Given the description of an element on the screen output the (x, y) to click on. 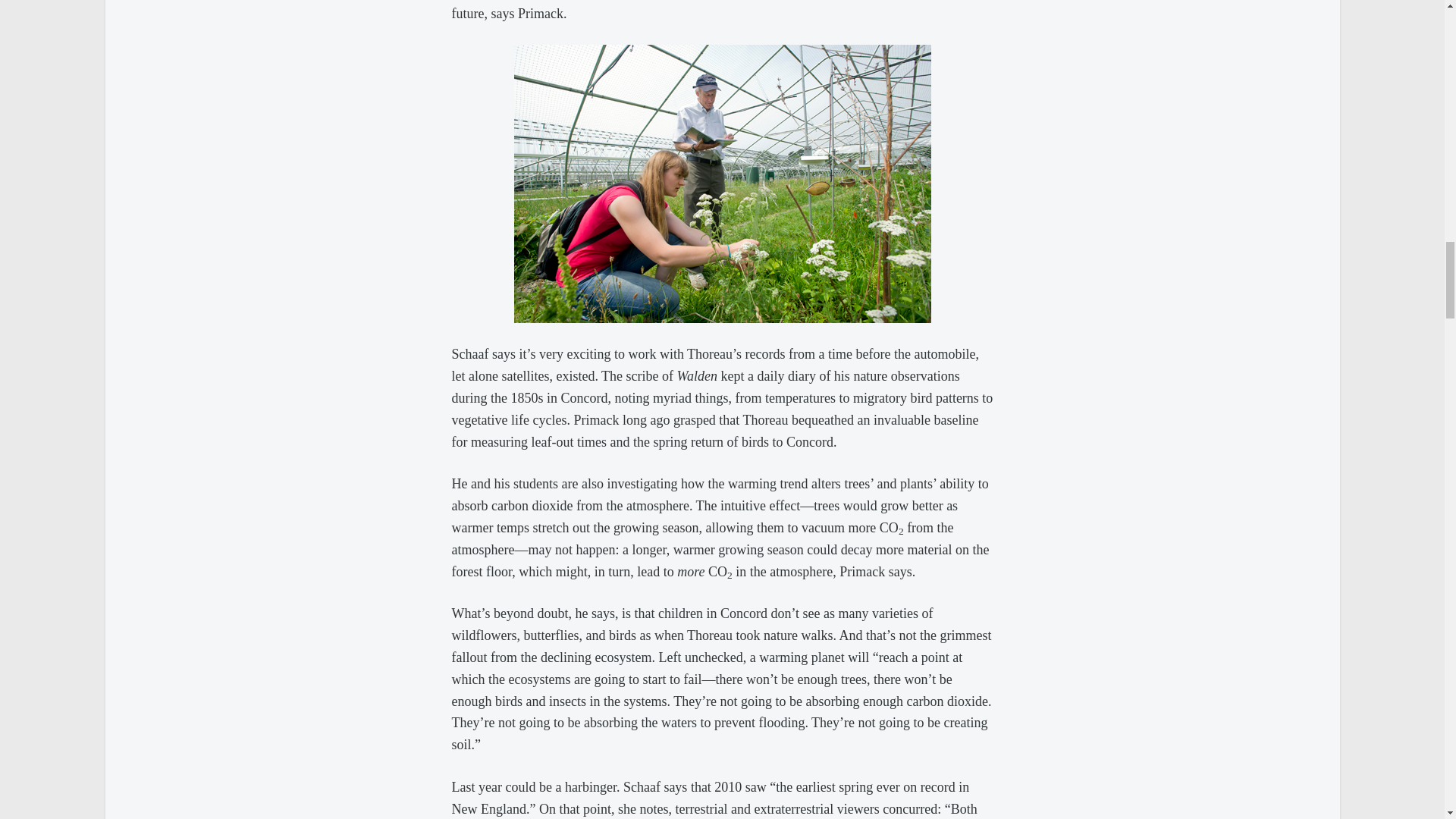
 Richard Primack and UROP Student Michelle McInnis (722, 183)
